Given the description of an element on the screen output the (x, y) to click on. 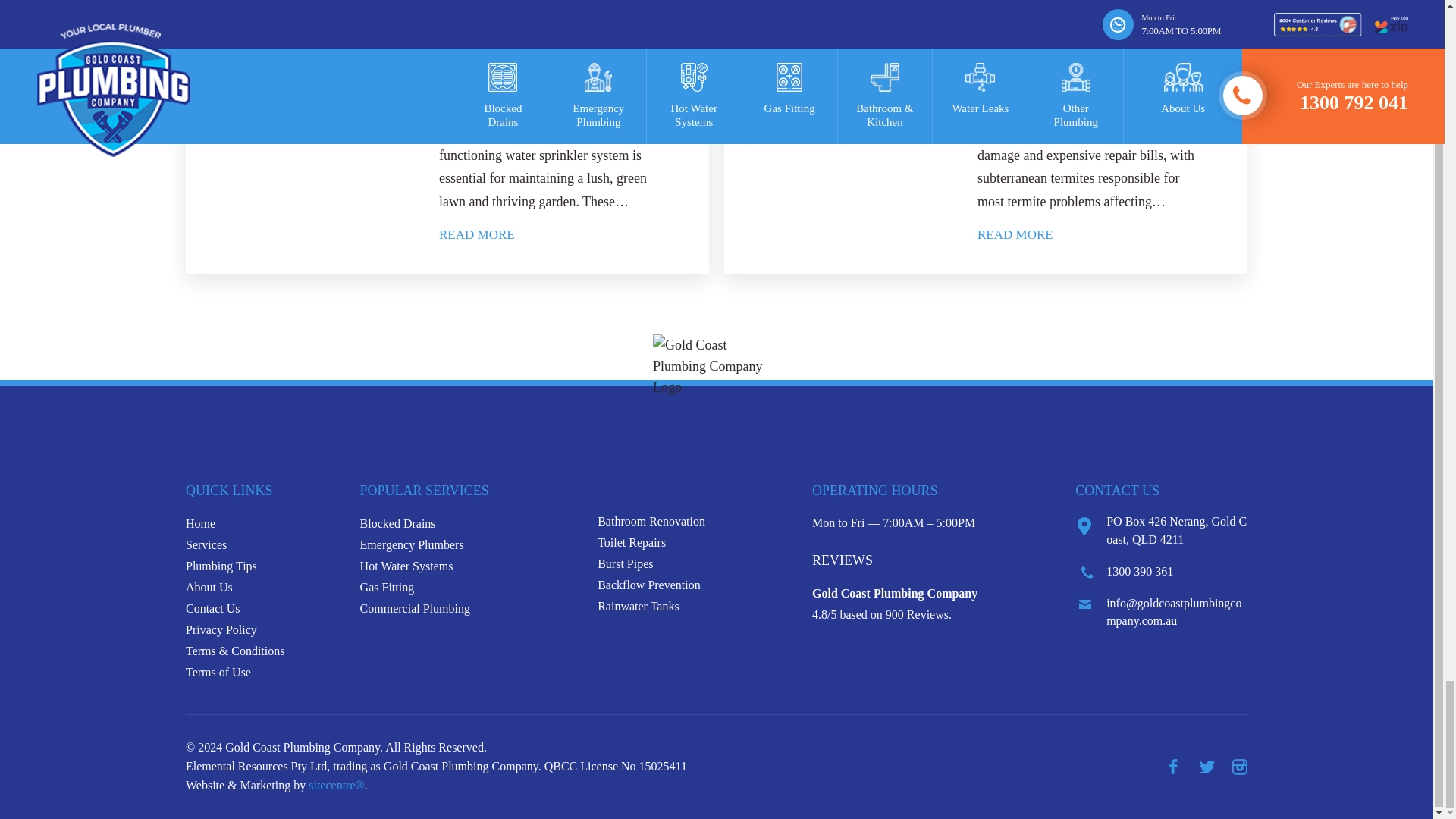
Hot Water Systems (405, 565)
Emergency Plumbers (411, 544)
About Us (209, 586)
Plumbing Tips (221, 565)
Contact Us (213, 608)
Our Services (206, 544)
Terms of Use (218, 671)
Blocked Drains (397, 522)
Gold Coast Plumbing Company Homepage (200, 522)
Privacy Policy (221, 629)
